Given the description of an element on the screen output the (x, y) to click on. 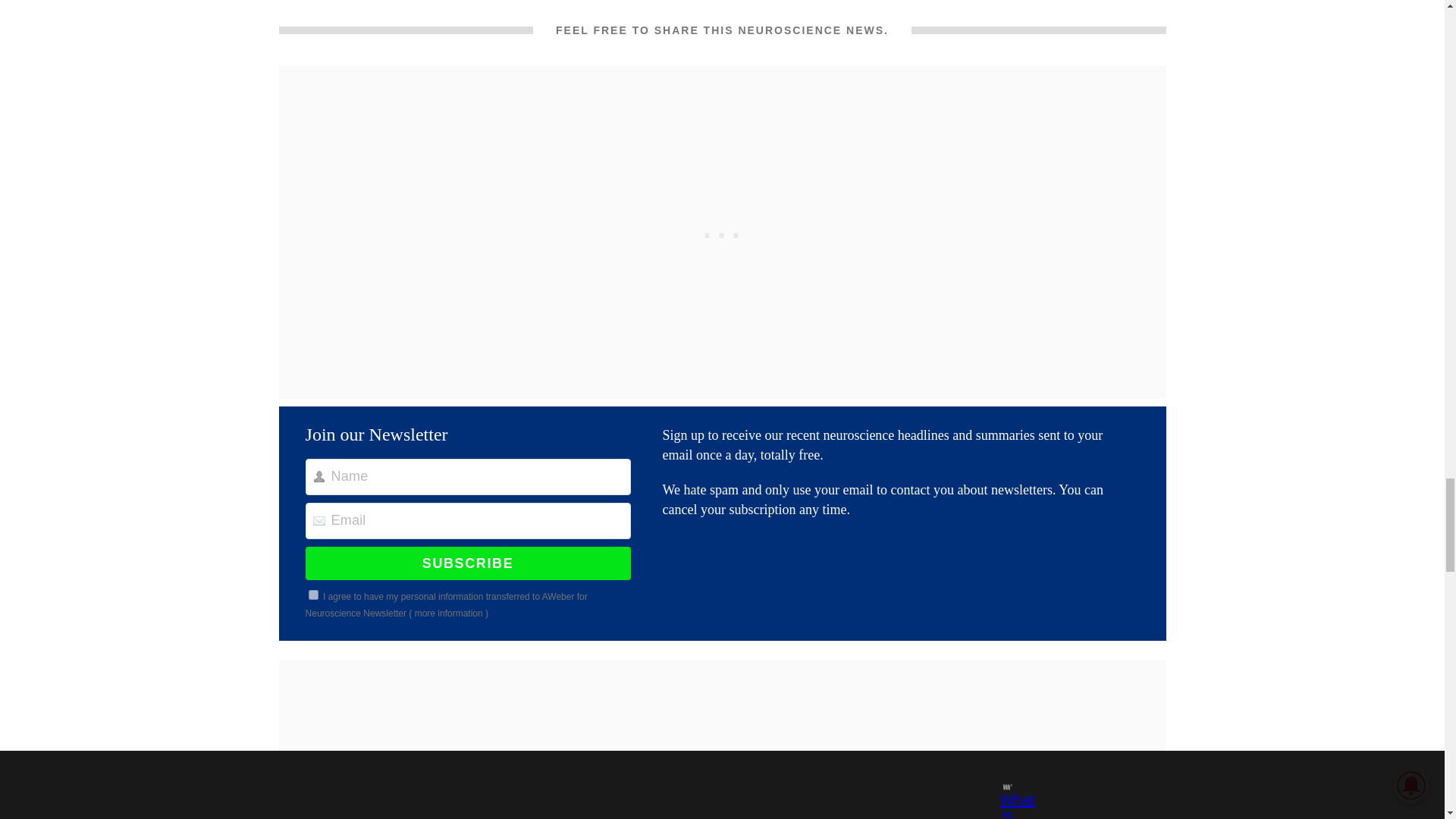
SUBSCRIBE (467, 563)
on (313, 594)
more information (448, 613)
SUBSCRIBE (467, 563)
